Given the description of an element on the screen output the (x, y) to click on. 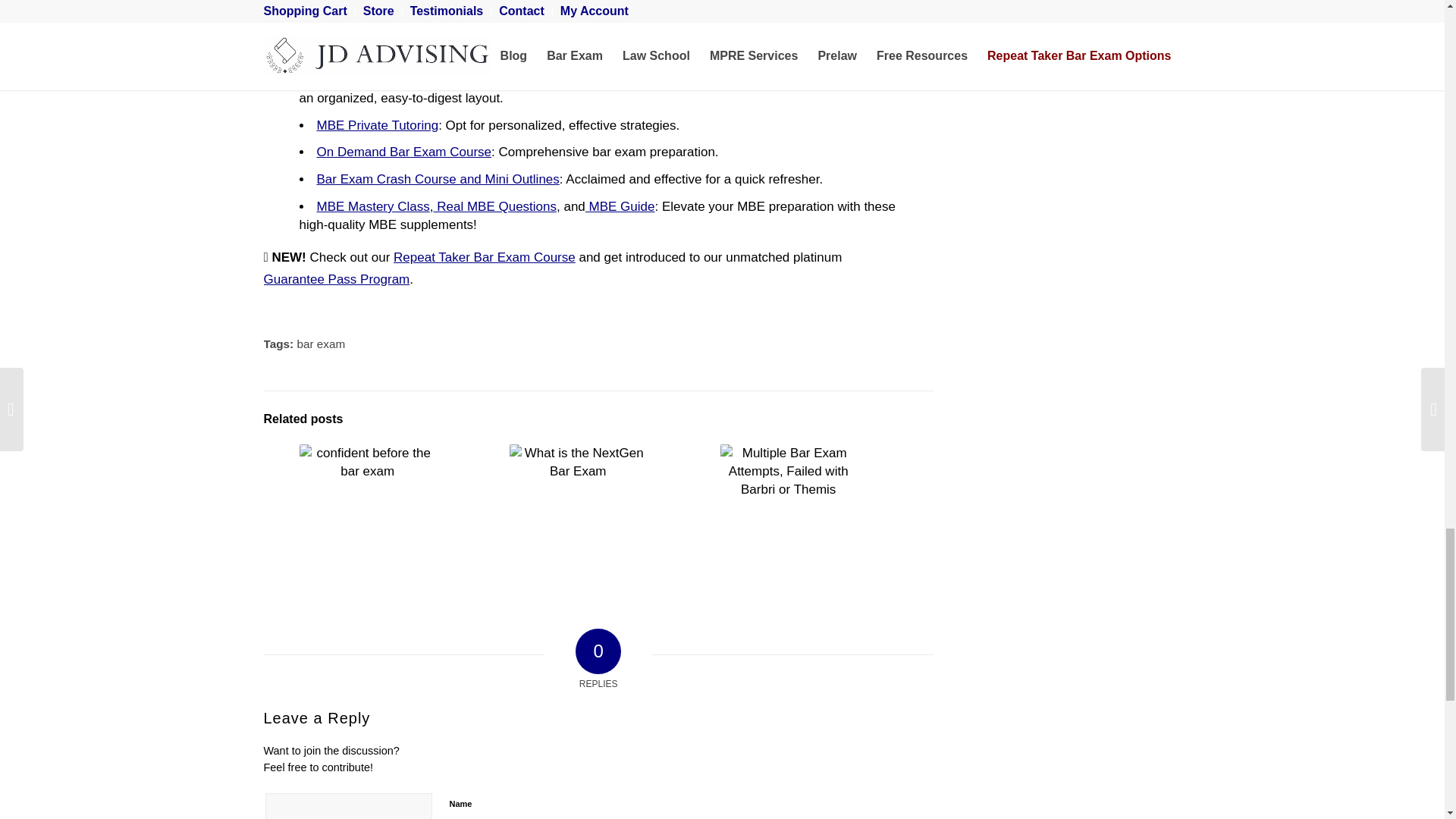
How Do I Feel More Confident Before the Bar Exam? (367, 512)
Failed with Barbri or Themis: What Should I Do Differently? (787, 495)
What is the NextGen Bar Exam (577, 512)
What is the NextGen Bar Exam? (577, 512)
confident before the bar exam (367, 512)
